Given the description of an element on the screen output the (x, y) to click on. 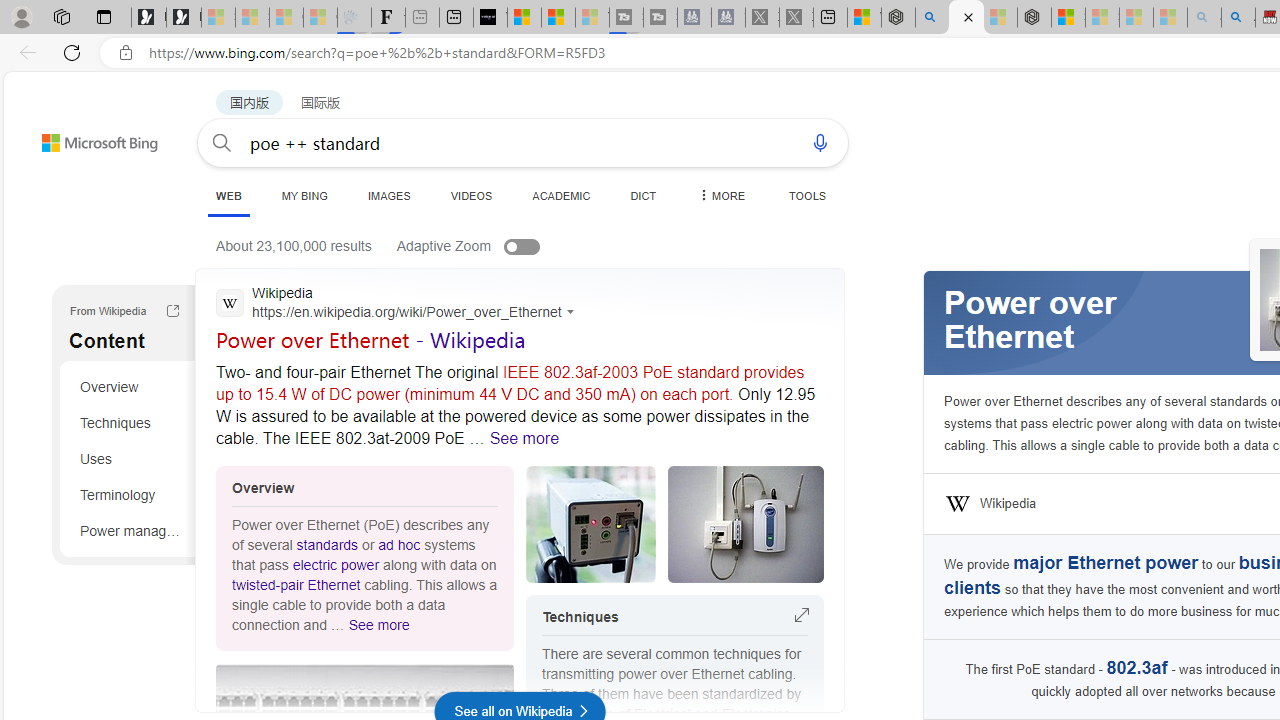
What's the best AI voice generator? - voice.ai (489, 17)
DICT (643, 195)
Dropdown Menu (720, 195)
standards (326, 544)
WEB (228, 196)
Techniques (130, 421)
